Given the description of an element on the screen output the (x, y) to click on. 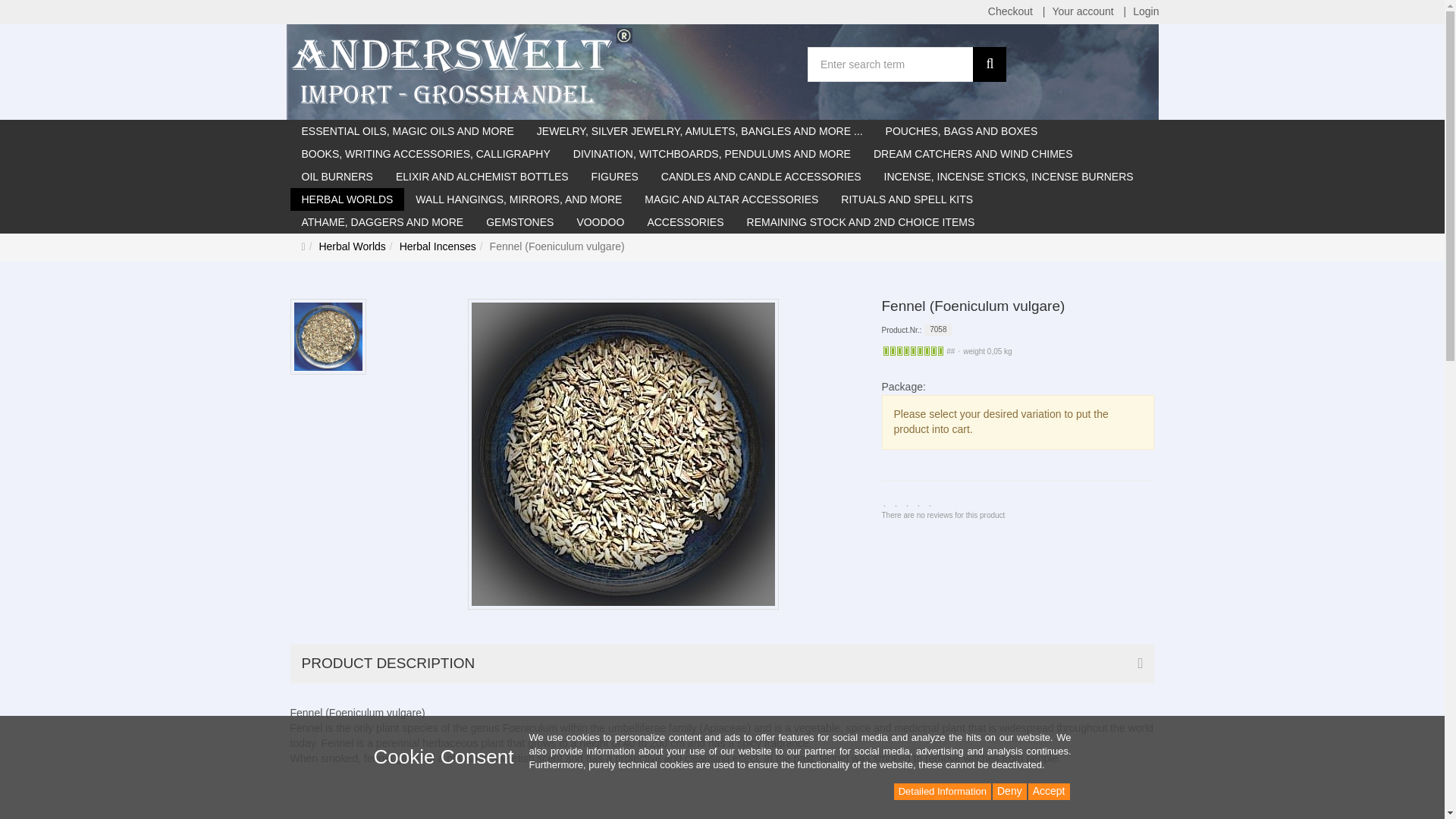
Checkout (1010, 12)
JEWELRY, SILVER JEWELRY, AMULETS, BANGLES AND MORE ... (700, 130)
search (989, 63)
Login (1145, 12)
ESSENTIAL OILS, MAGIC OILS AND MORE (406, 130)
Your account (1082, 12)
